Given the description of an element on the screen output the (x, y) to click on. 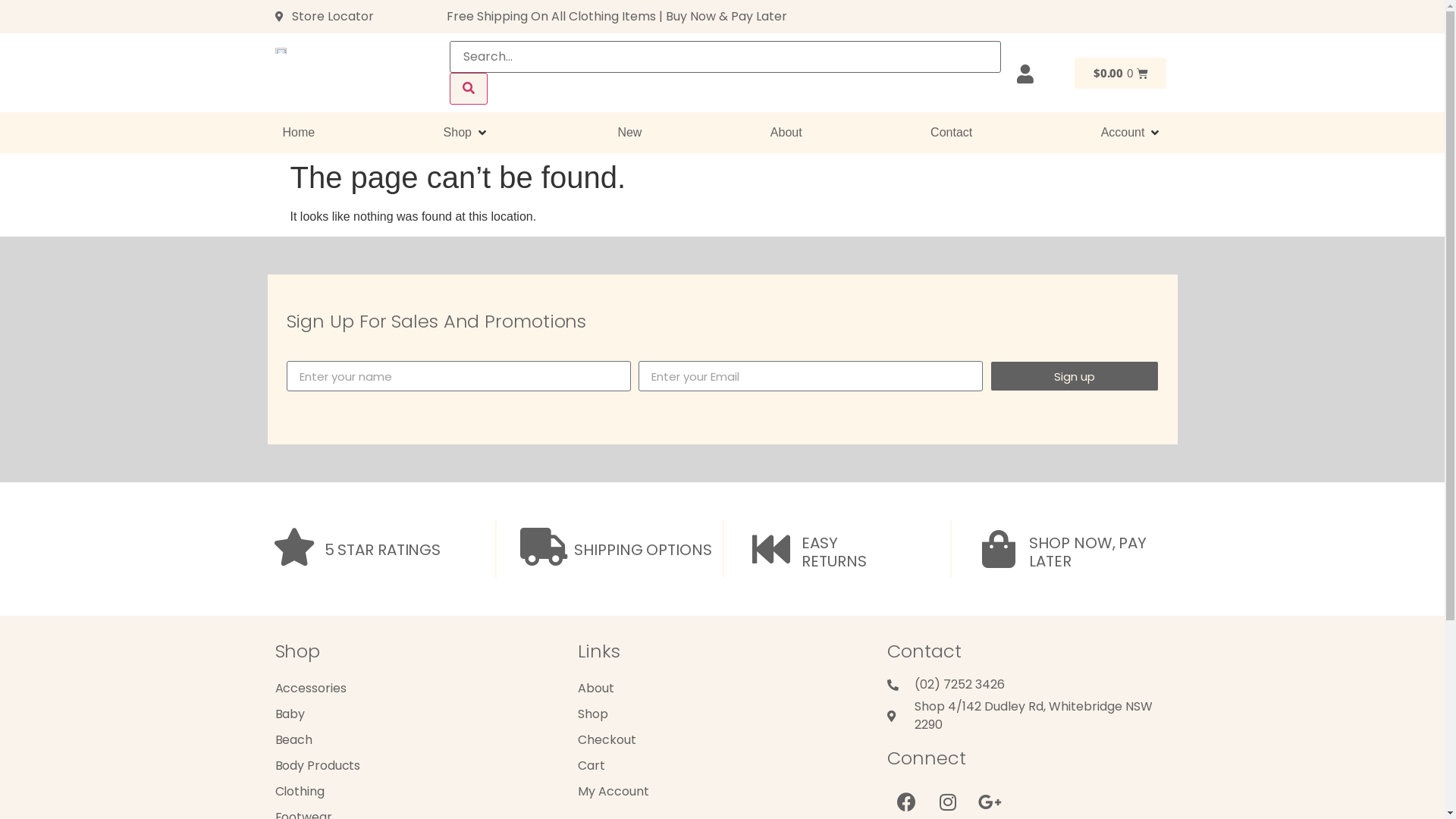
Store Locator Element type: text (352, 16)
New Element type: text (629, 132)
Cart Element type: text (717, 765)
My Account Element type: text (717, 791)
About Element type: text (786, 132)
Shop Element type: text (717, 714)
Contact Element type: text (951, 132)
Body Products Element type: text (410, 765)
Beach Element type: text (410, 740)
$0.00
0 Element type: text (1120, 72)
Home Element type: text (298, 132)
Checkout Element type: text (717, 740)
Sign up Element type: text (1074, 375)
(02) 7252 3426 Element type: text (1026, 684)
Account Element type: text (1123, 132)
Baby Element type: text (410, 714)
About Element type: text (717, 688)
Accessories Element type: text (410, 688)
Clothing Element type: text (410, 791)
Shop Element type: text (457, 132)
